Given the description of an element on the screen output the (x, y) to click on. 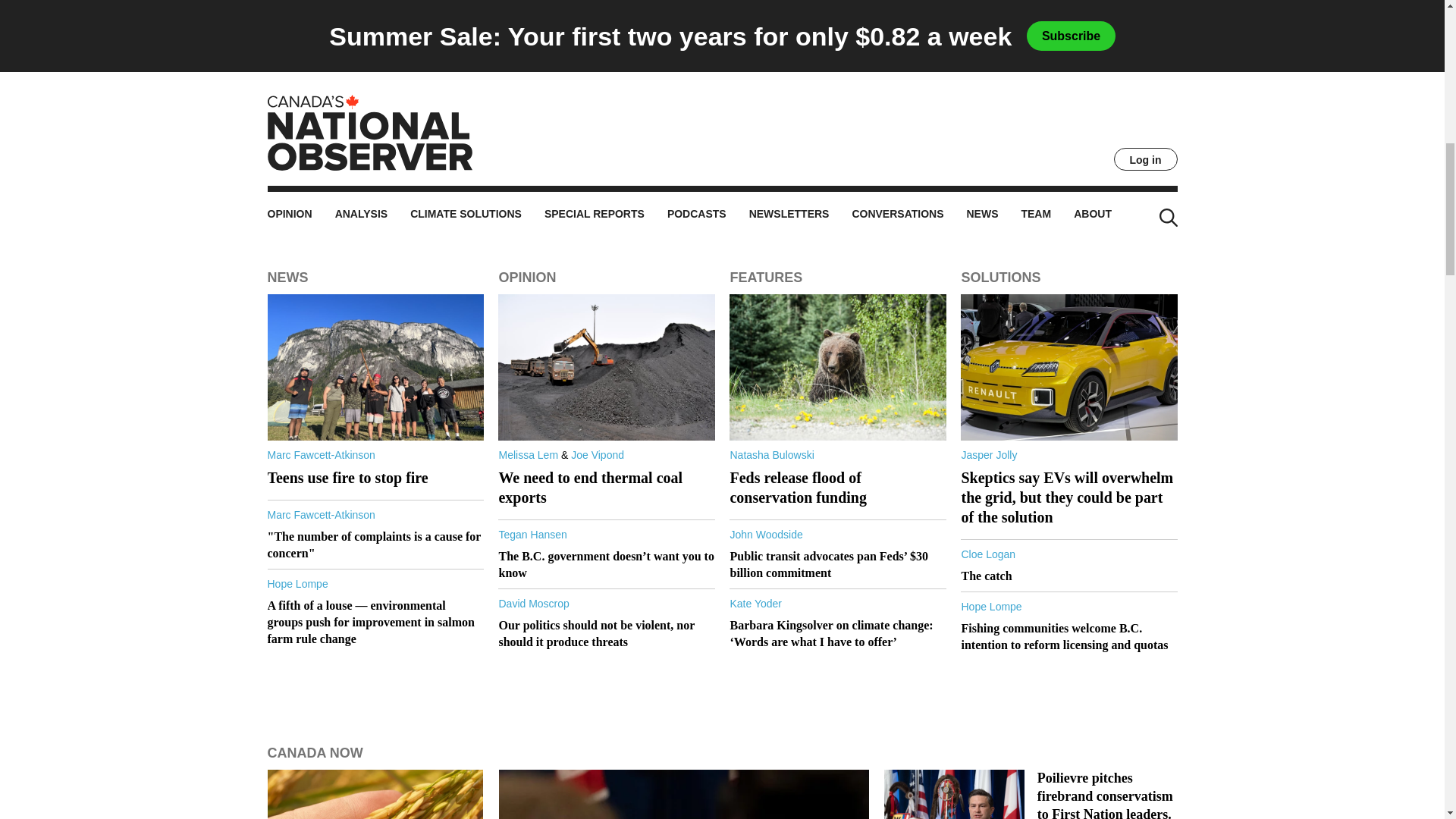
Abdul Matin Sarfraz (312, 132)
John Woodside (996, 141)
Brishti Basu (988, 41)
